Given the description of an element on the screen output the (x, y) to click on. 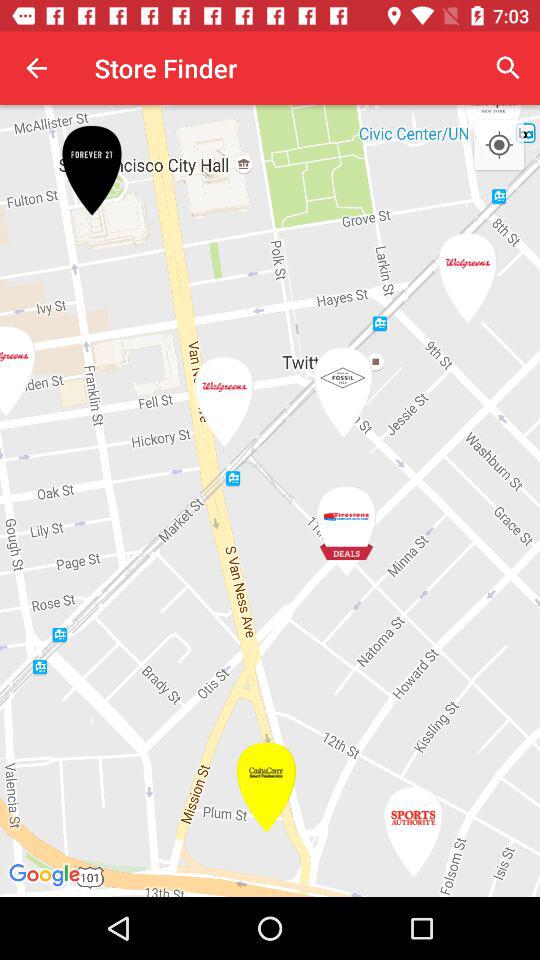
open app to the left of store finder app (36, 68)
